Given the description of an element on the screen output the (x, y) to click on. 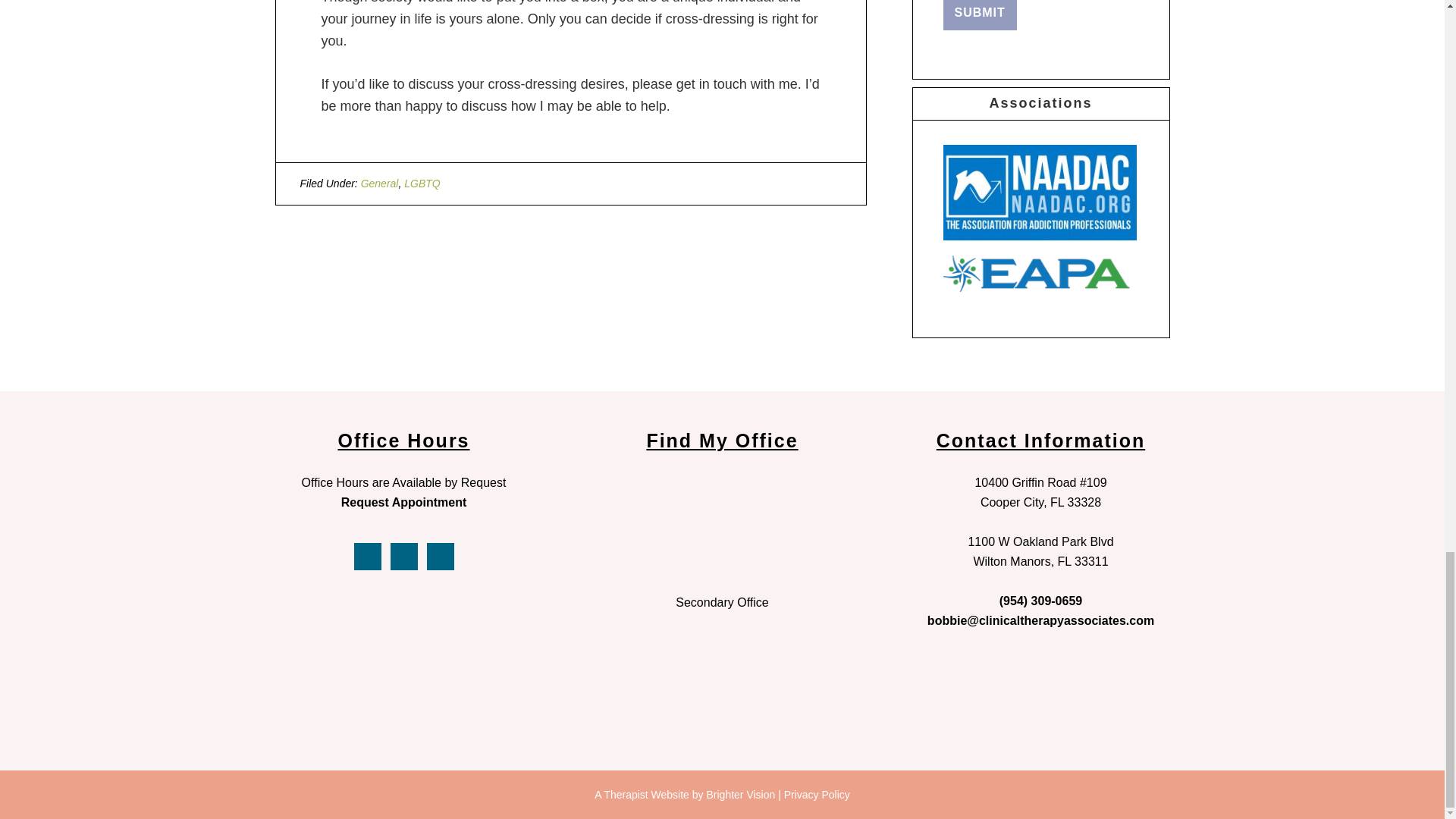
Privacy Policy (817, 794)
Brighter Vision (740, 794)
LGBTQ (421, 183)
Request Appointment (403, 502)
General (379, 183)
SUBMIT (979, 15)
